Given the description of an element on the screen output the (x, y) to click on. 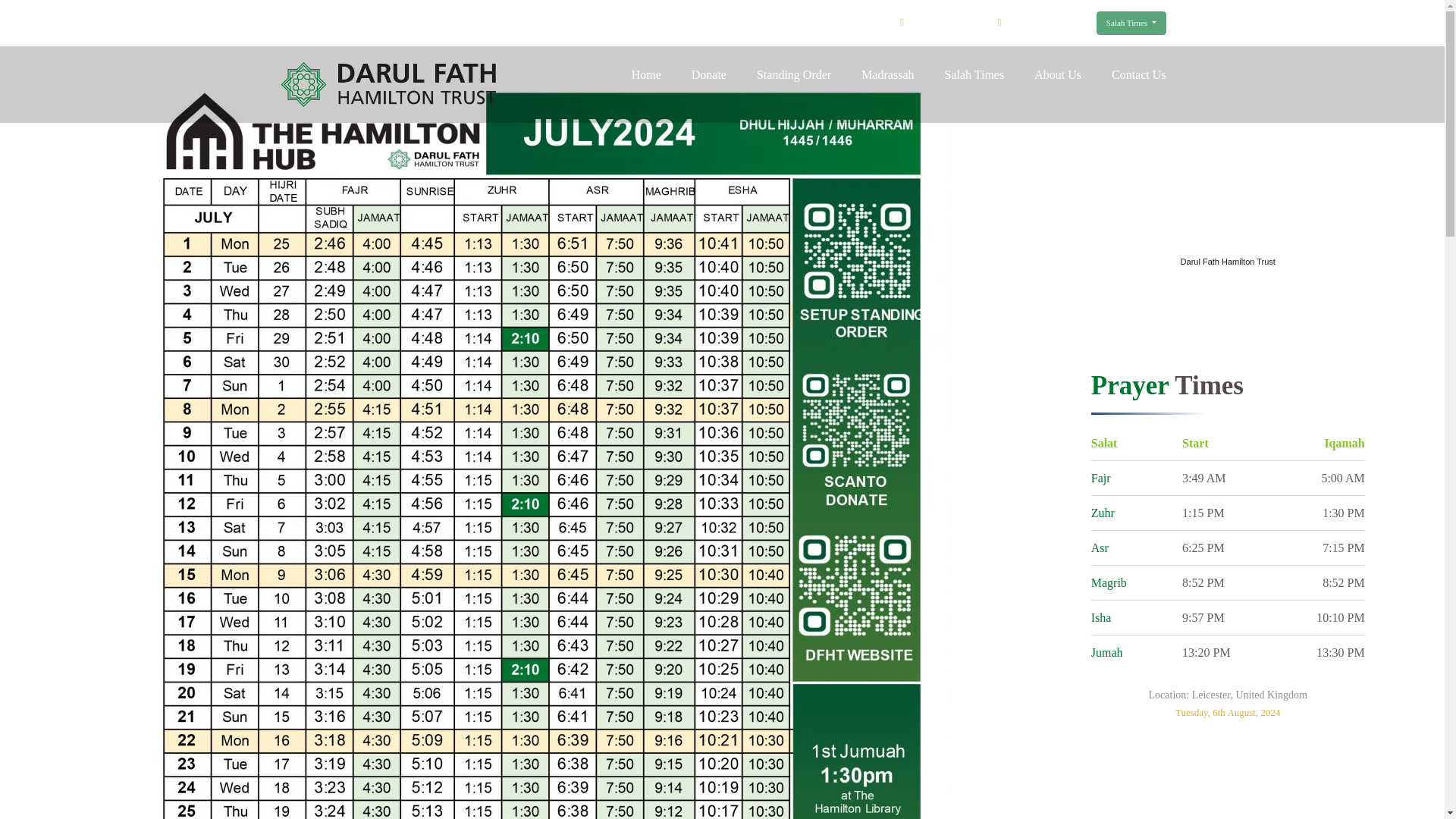
Contact Us (1139, 74)
Donate (708, 74)
Salah Times (973, 74)
Salah Times (1131, 23)
Standing Order (794, 74)
Darul Fath Hamilton Trust (1228, 261)
About Us (1057, 74)
Madrassah (887, 74)
